Given the description of an element on the screen output the (x, y) to click on. 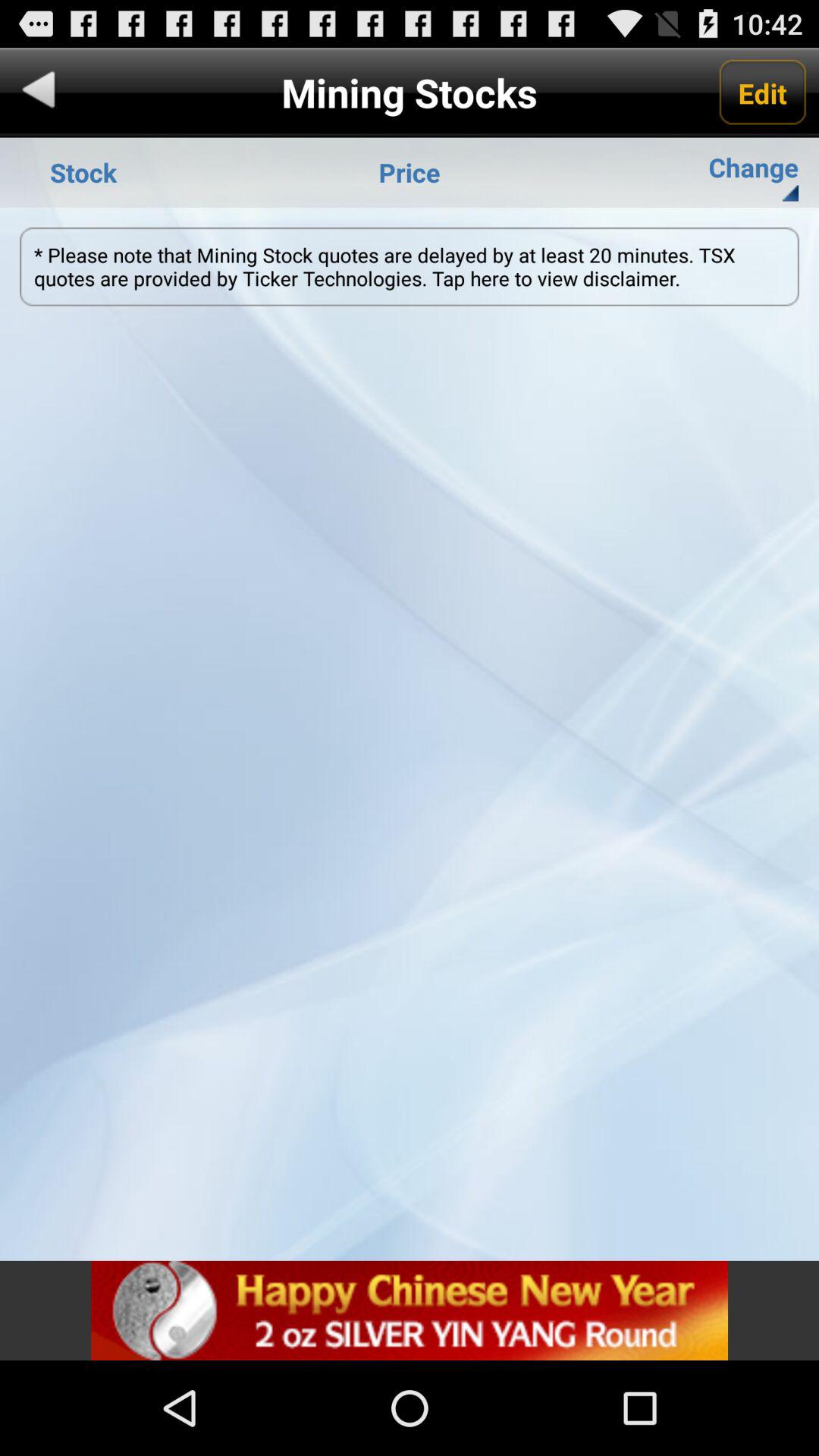
advertisement (409, 1310)
